Given the description of an element on the screen output the (x, y) to click on. 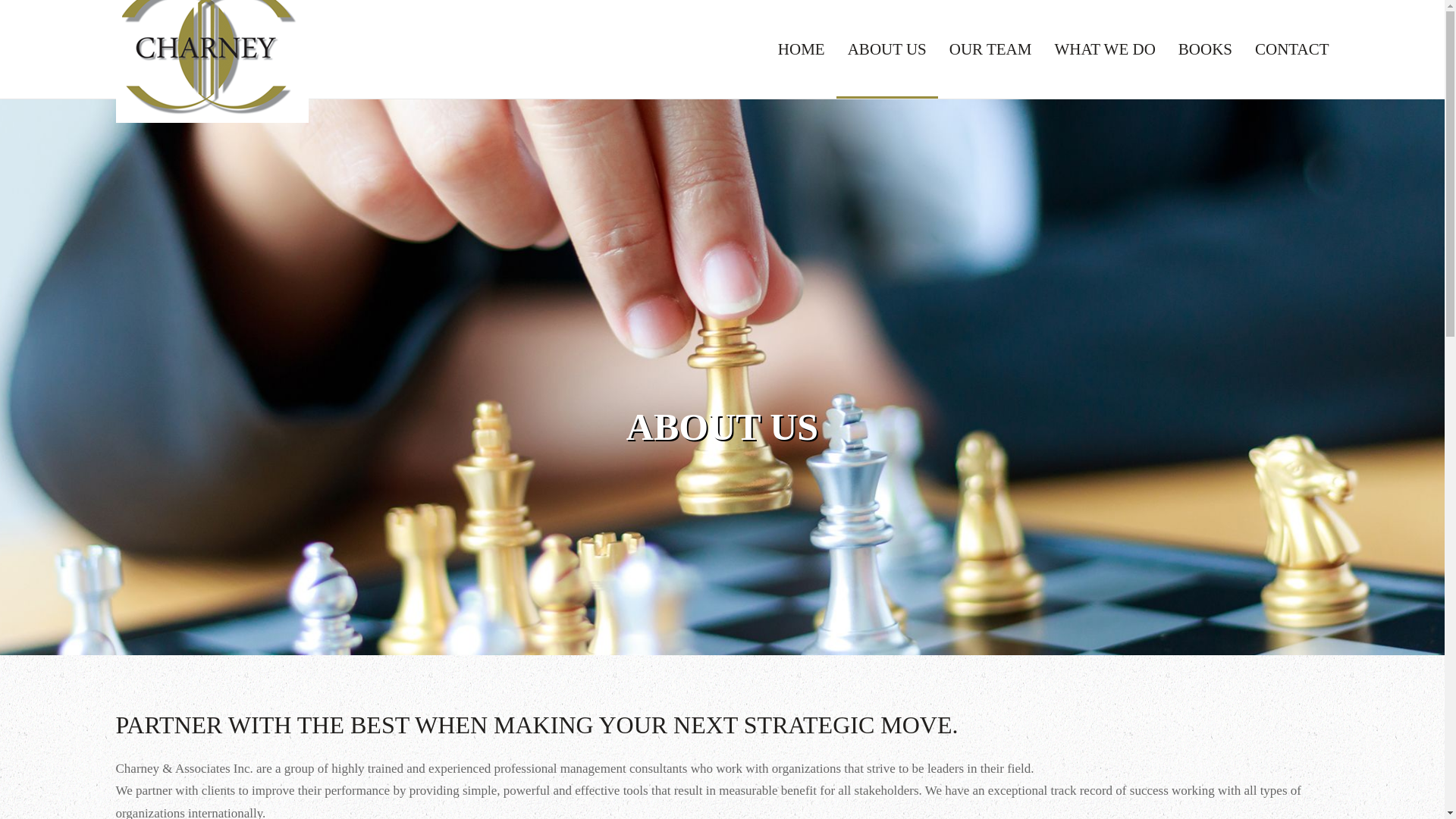
PARTNER WITH THE BEST WHEN MAKING YOUR NEXT STRATEGIC MOVE. (721, 725)
WHAT WE DO (1104, 49)
ABOUT US (886, 49)
OUR TEAM (990, 49)
CONTACT (1291, 49)
